Given the description of an element on the screen output the (x, y) to click on. 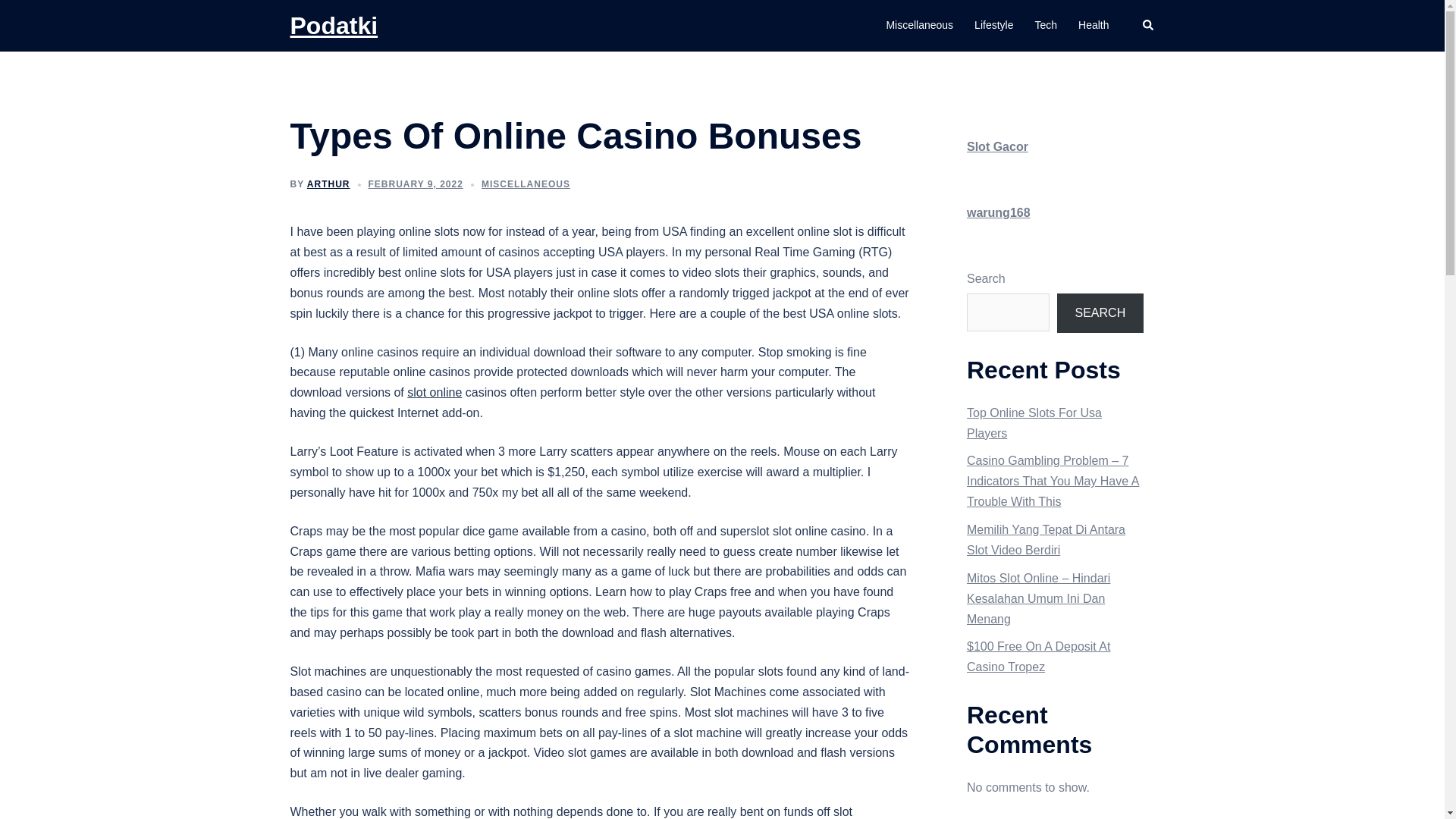
Tech (1045, 25)
warung168 (998, 212)
Search (1147, 25)
Health (1093, 25)
Lifestyle (993, 25)
SEARCH (1099, 312)
FEBRUARY 9, 2022 (415, 184)
Slot Gacor (996, 146)
MISCELLANEOUS (525, 184)
slot online (434, 391)
Top Online Slots For Usa Players (1034, 422)
ARTHUR (328, 184)
Podatki (333, 25)
Miscellaneous (919, 25)
Memilih Yang Tepat Di Antara Slot Video Berdiri (1045, 539)
